Given the description of an element on the screen output the (x, y) to click on. 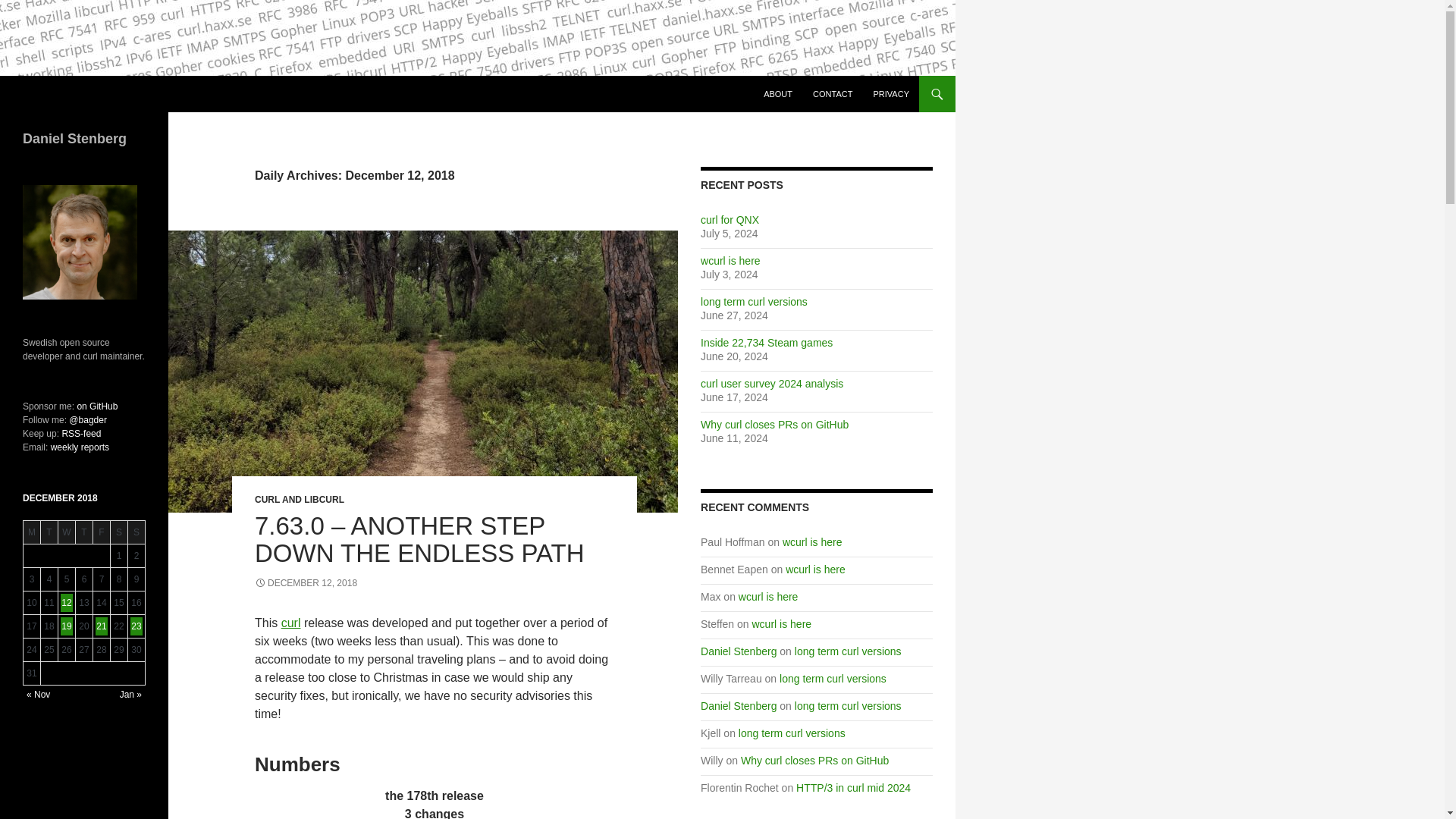
ABOUT (778, 94)
CURL AND LIBCURL (298, 499)
curl for QNX (729, 219)
PRIVACY (891, 94)
daniel.haxx.se (69, 94)
curl (291, 622)
long term curl versions (754, 301)
Inside 22,734 Steam games (766, 342)
DECEMBER 12, 2018 (305, 583)
CONTACT (832, 94)
wcurl is here (730, 260)
